Given the description of an element on the screen output the (x, y) to click on. 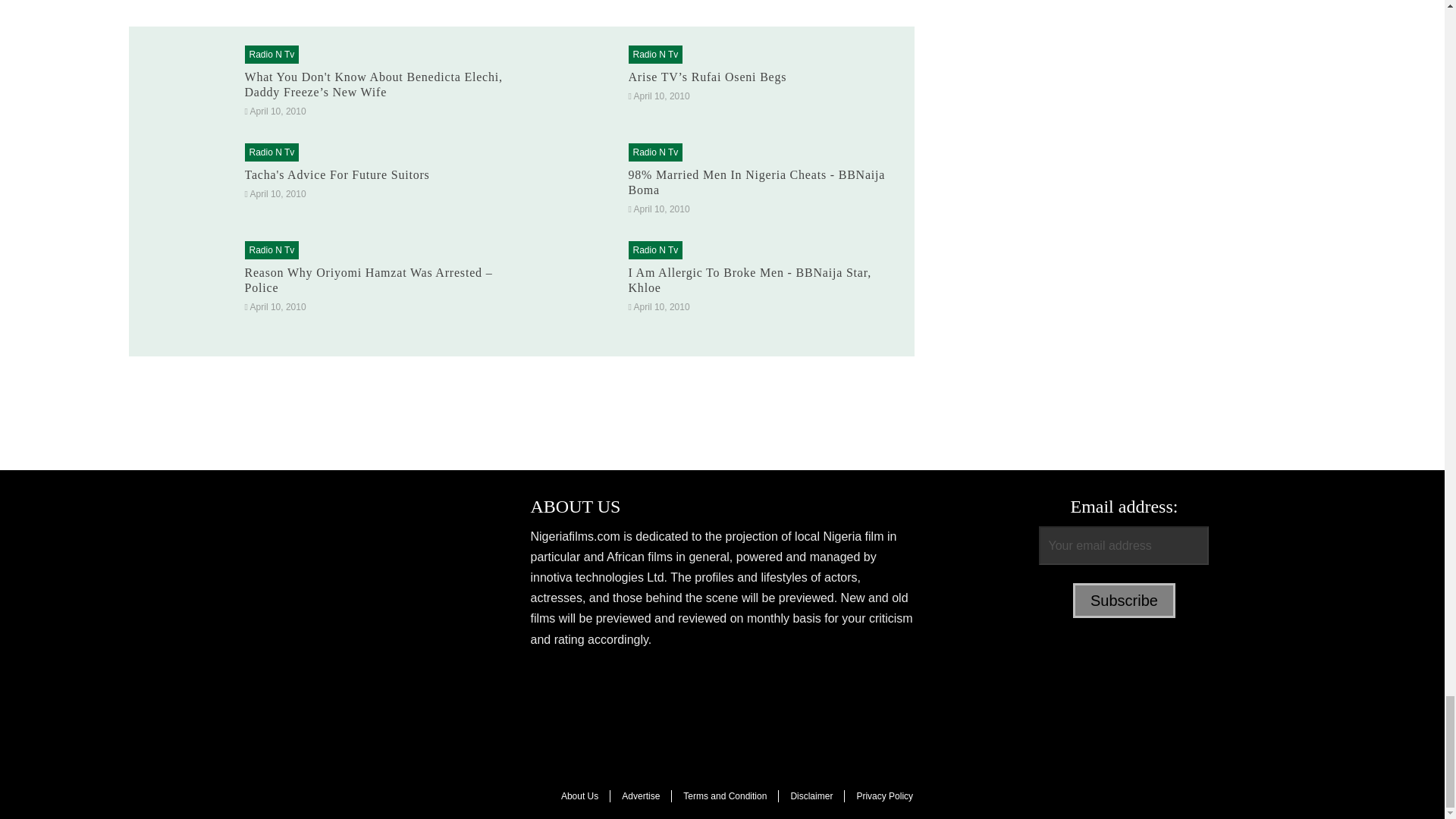
Subscribe (1123, 600)
